Given the description of an element on the screen output the (x, y) to click on. 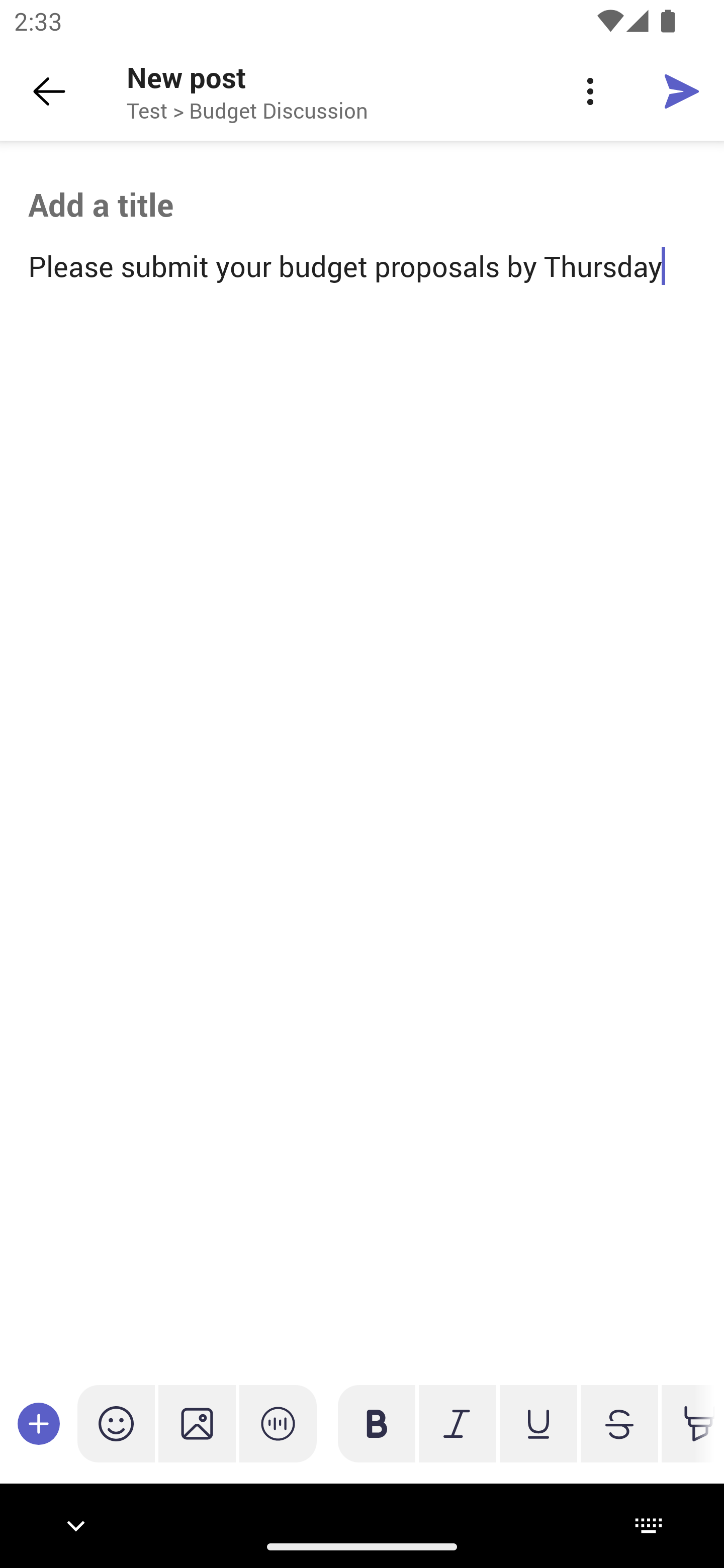
Back (49, 91)
Email options (589, 91)
Send message (681, 90)
Add a title (362, 204)
Compose options, collapsed (38, 1423)
GIFs and emojis picker (115, 1423)
Media (197, 1423)
Record audio message (278, 1423)
Bold (376, 1423)
Italic (456, 1423)
Underline (538, 1423)
Strikethrough (619, 1423)
Select text highlight color (688, 1423)
